Given the description of an element on the screen output the (x, y) to click on. 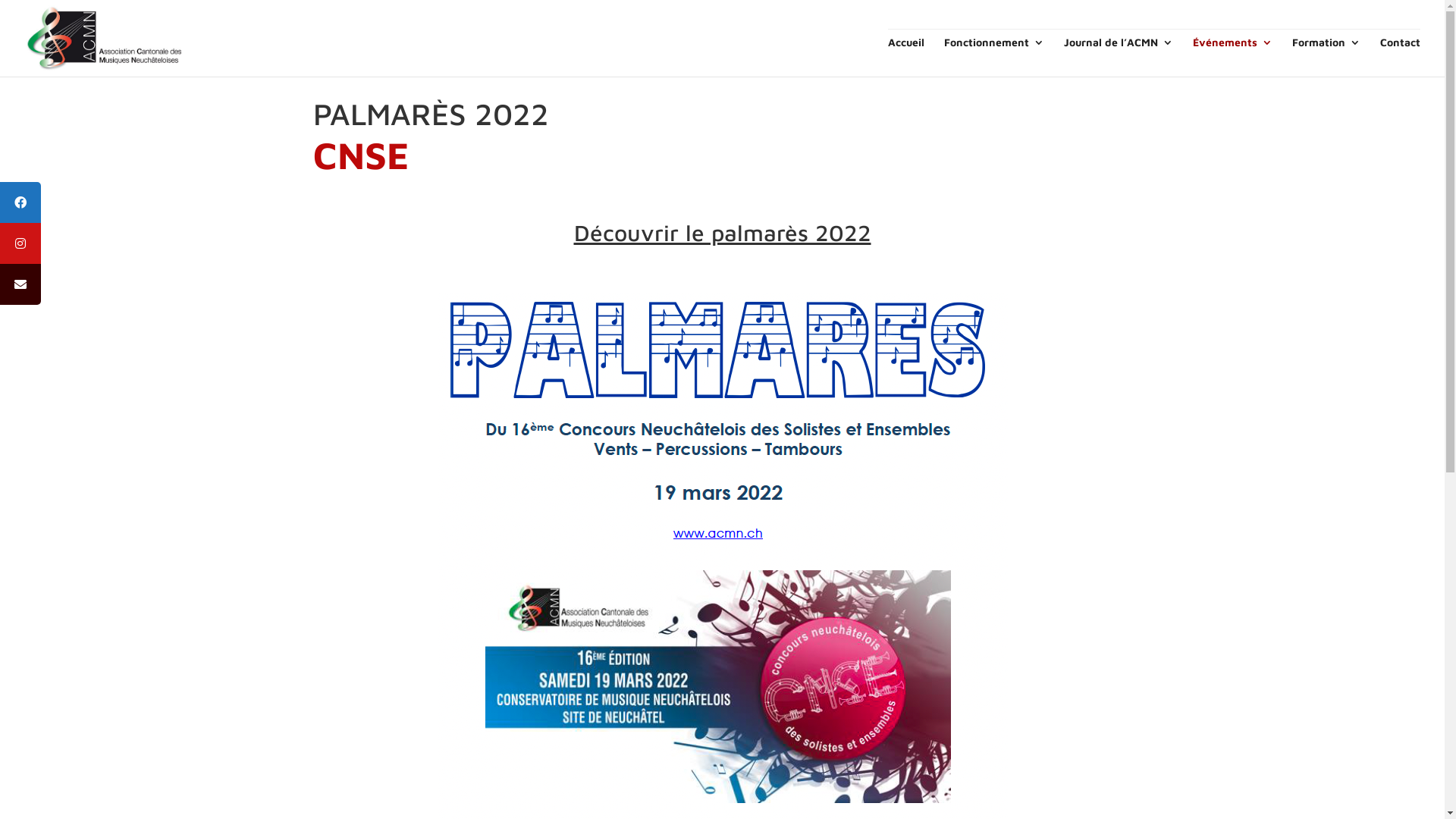
Cours de sous-direction Element type: text (791, 638)
Galerie Element type: text (914, 693)
Accueil Element type: text (906, 56)
CNSE Element type: text (614, 602)
Archives Musique Info Element type: text (949, 620)
Journal de l'ACMN Element type: text (941, 602)
Cours de trompette militaire Element type: text (801, 656)
Concert du champion Element type: text (652, 638)
Formation Element type: text (1326, 56)
Gestion des membres Element type: text (505, 690)
Contact Element type: text (1097, 586)
Formations Element type: text (774, 578)
Fonctionnement Element type: text (994, 56)
Contact Element type: text (1400, 56)
Agenda Element type: text (916, 674)
Camp de l'ACMN Element type: text (641, 620)
Commission Musicale Element type: text (503, 635)
Commission Tambours Element type: text (506, 653)
Fonctionnement Element type: text (508, 586)
